Given the description of an element on the screen output the (x, y) to click on. 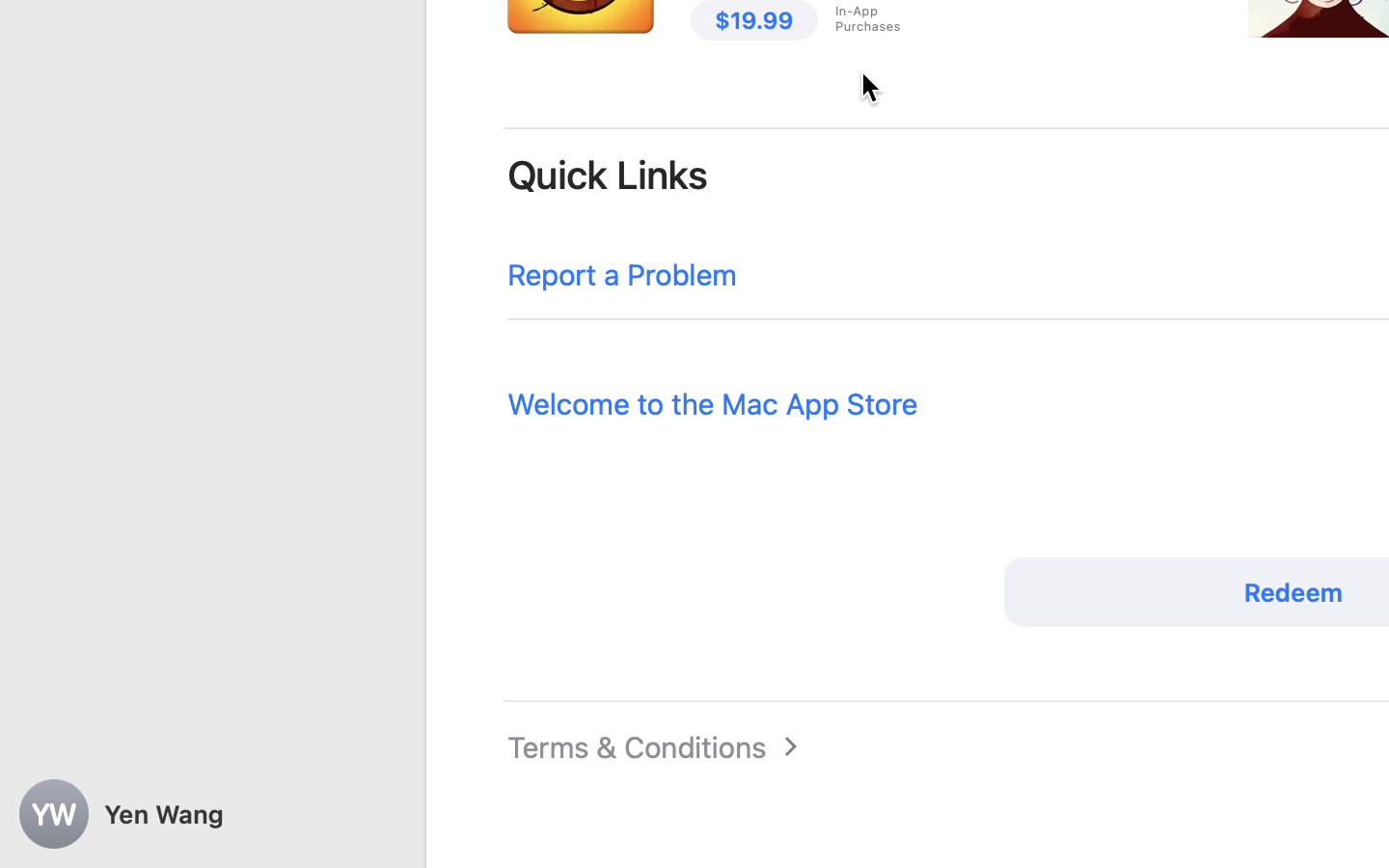
Yen Wang Element type: AXButton (212, 813)
